Given the description of an element on the screen output the (x, y) to click on. 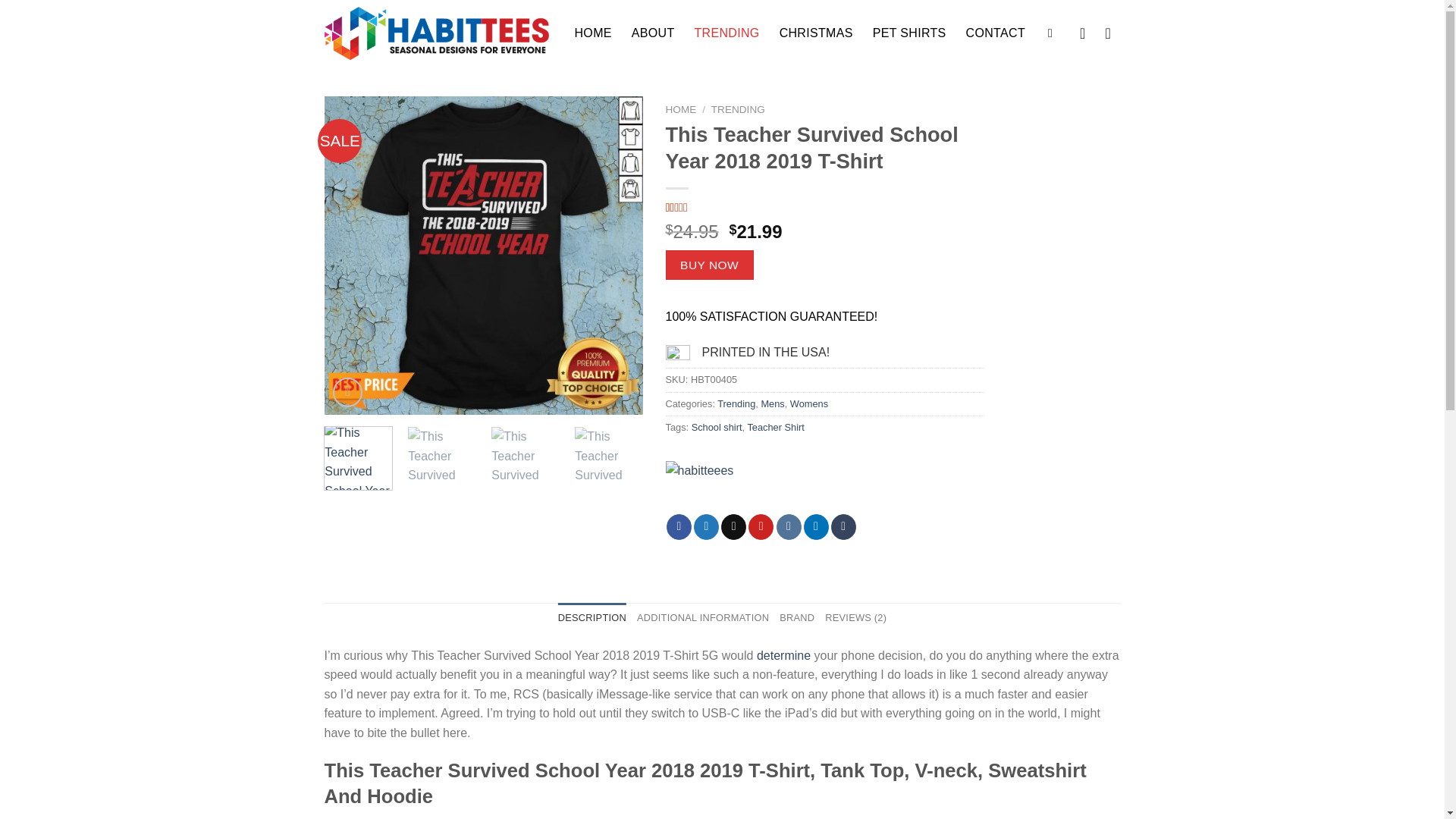
Zoom (347, 392)
Teacher Shirt (774, 427)
Email to a Friend (732, 526)
TRENDING (727, 32)
CHRISTMAS (815, 32)
Womens (809, 403)
BUY NOW (709, 265)
School shirt (716, 427)
Mens (772, 403)
Share on Twitter (706, 526)
